Given the description of an element on the screen output the (x, y) to click on. 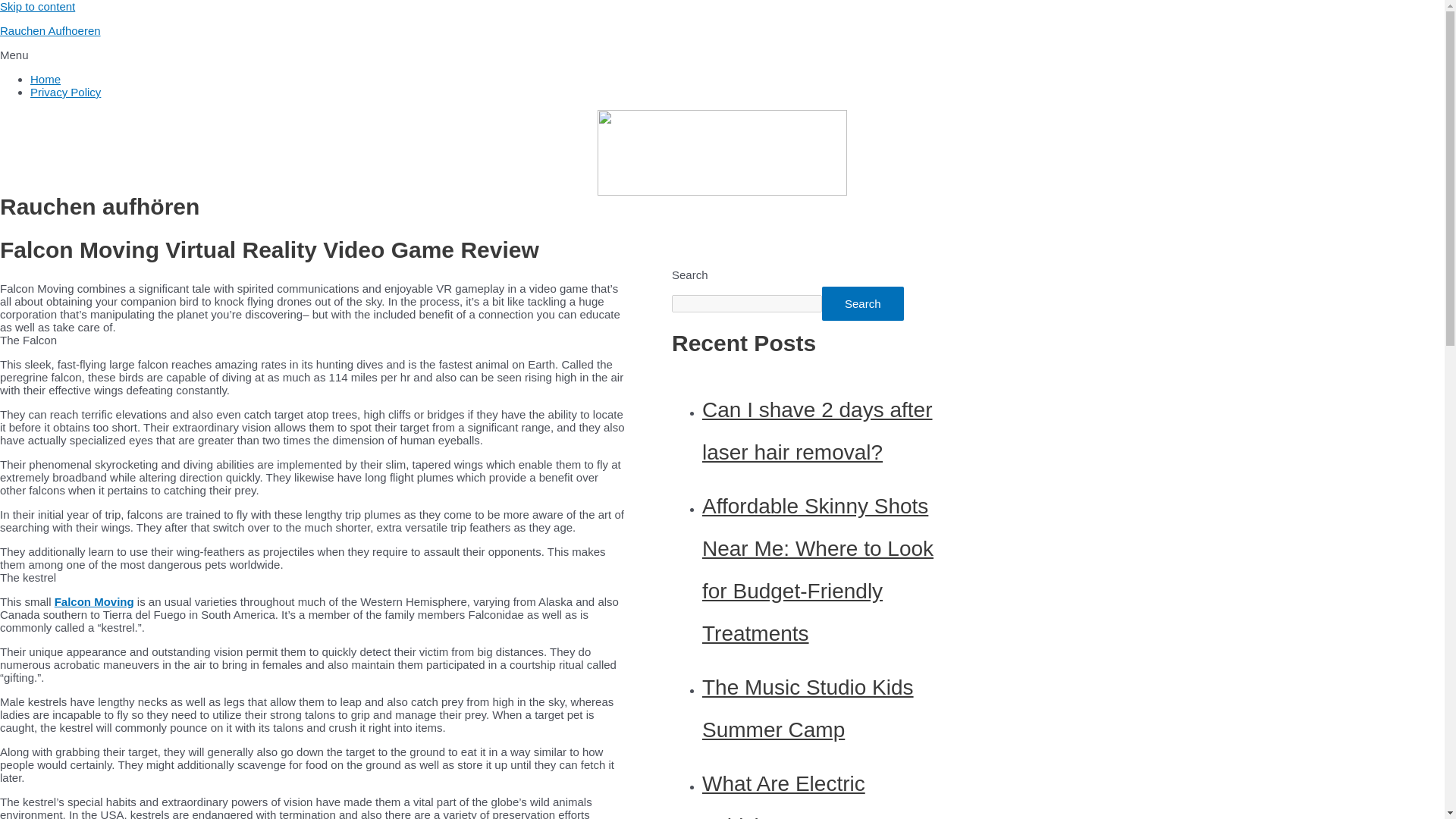
Rauchen Aufhoeren (50, 30)
Skip to content (37, 6)
Search (863, 303)
The Music Studio Kids Summer Camp (807, 708)
Falcon Moving (94, 601)
Rauchen Aufhoeren (50, 30)
Skip to content (37, 6)
Can I shave 2 days after laser hair removal? (817, 431)
What Are Electric Vehicles? (782, 795)
